Given the description of an element on the screen output the (x, y) to click on. 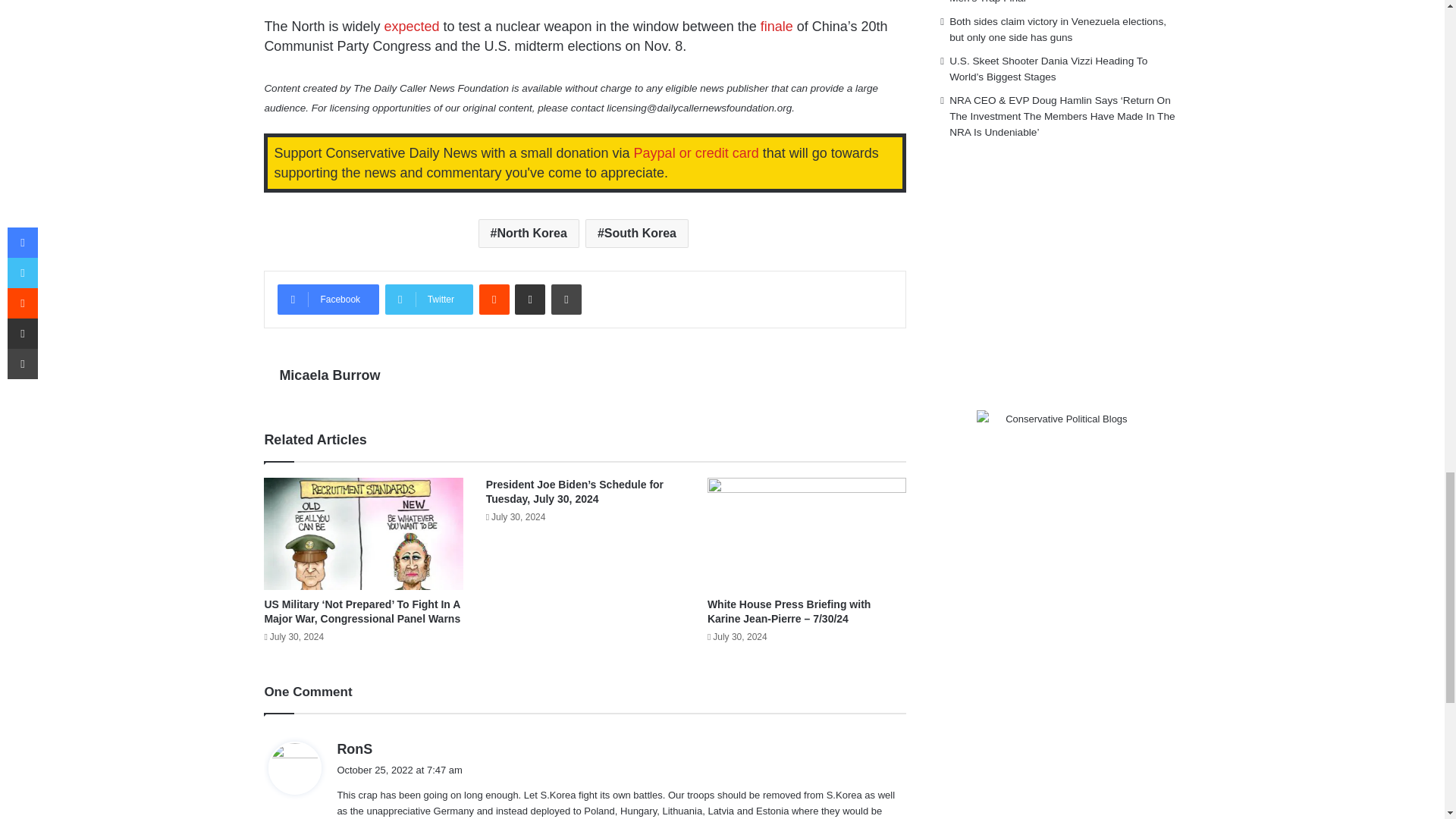
Reddit (494, 299)
Twitter (429, 299)
Facebook (328, 299)
